Given the description of an element on the screen output the (x, y) to click on. 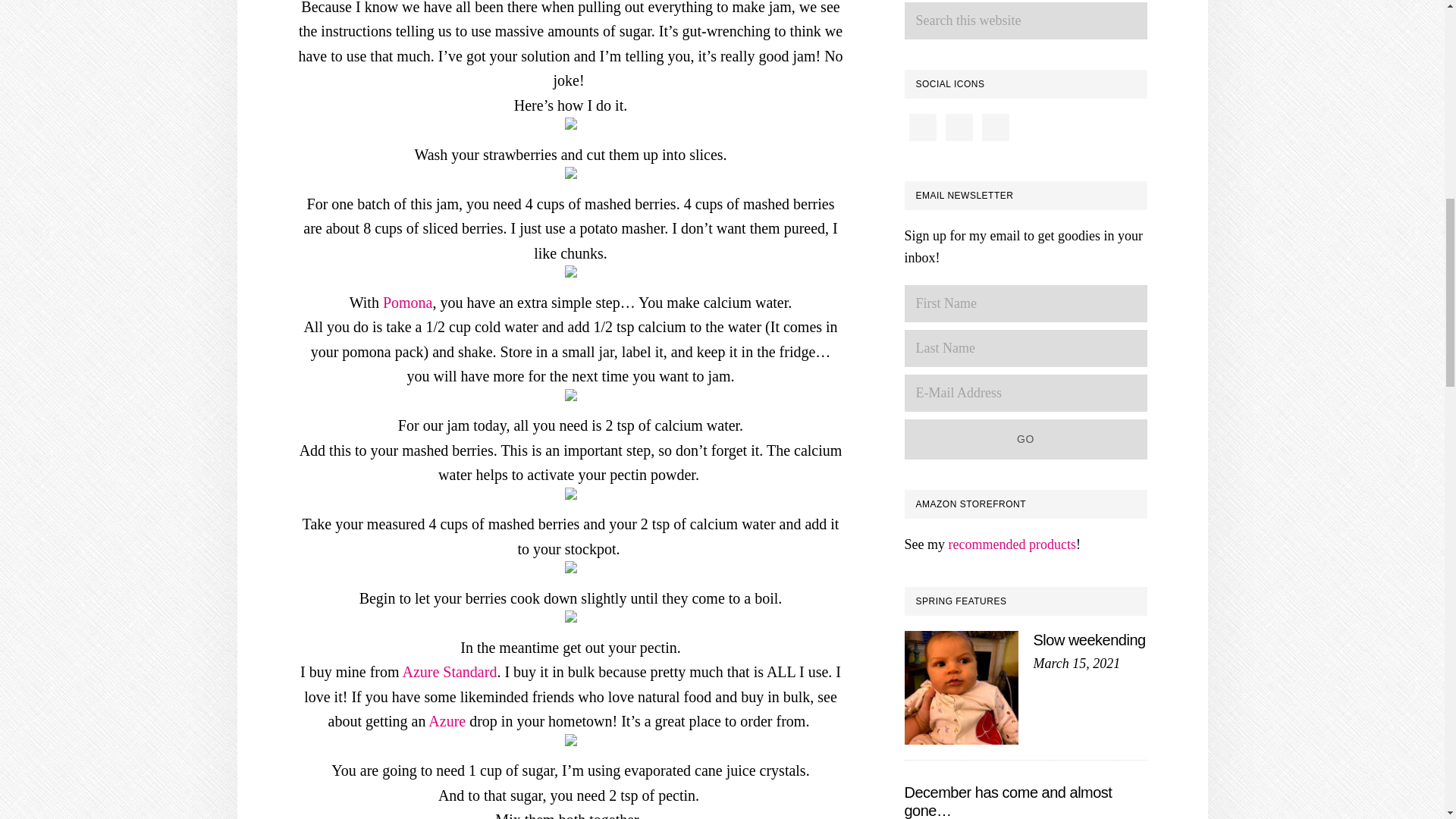
Azure (446, 720)
Azure Standard (448, 671)
Go (1025, 439)
Pomona (407, 302)
